Given the description of an element on the screen output the (x, y) to click on. 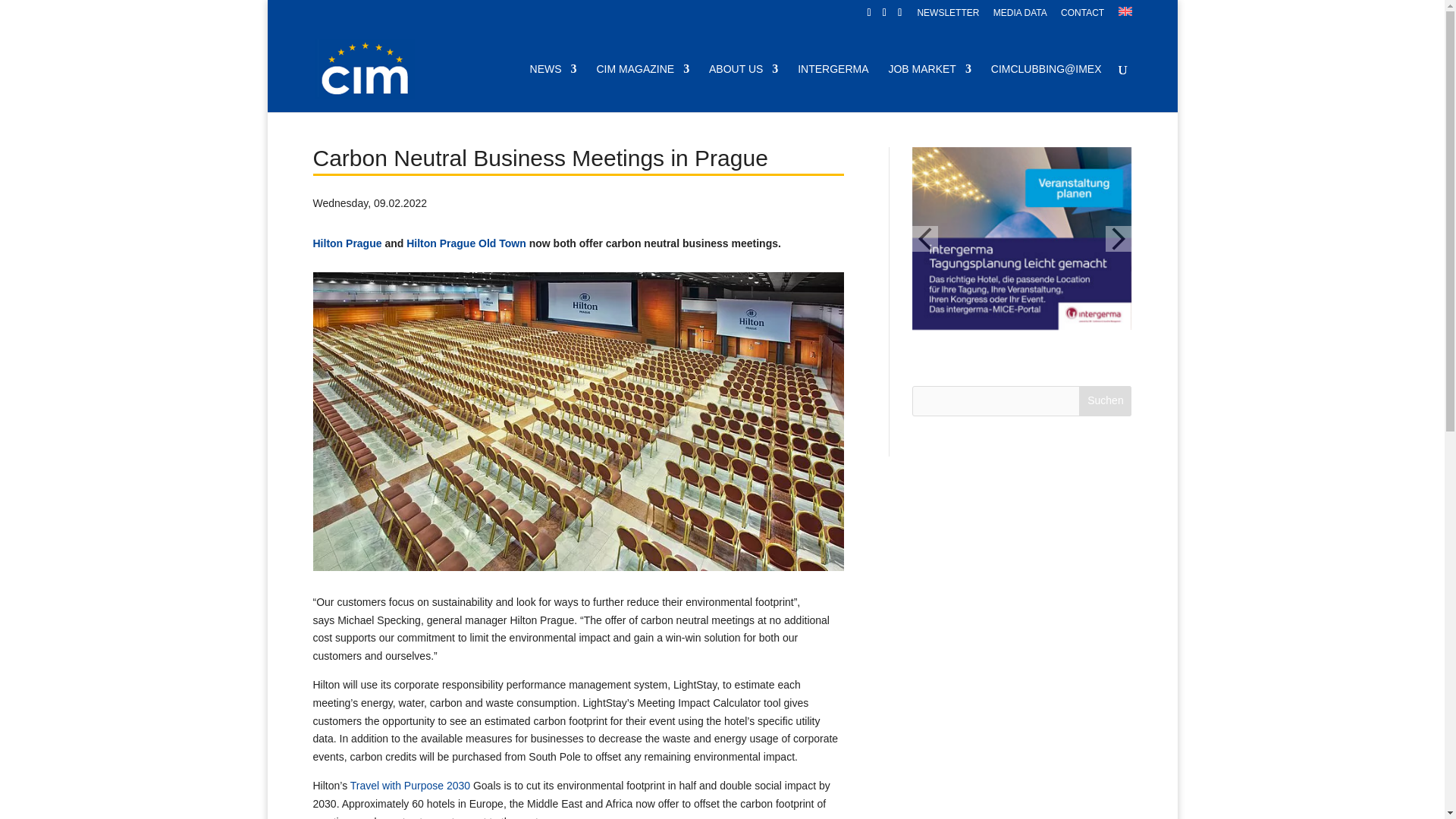
CONTACT (1082, 16)
INTERGERMA (832, 87)
ABOUT US (743, 87)
NEWS (552, 87)
MEDIA DATA (1019, 16)
NEWSLETTER (947, 16)
CIM MAGAZINE (641, 87)
JOB MARKET (929, 87)
